Given the description of an element on the screen output the (x, y) to click on. 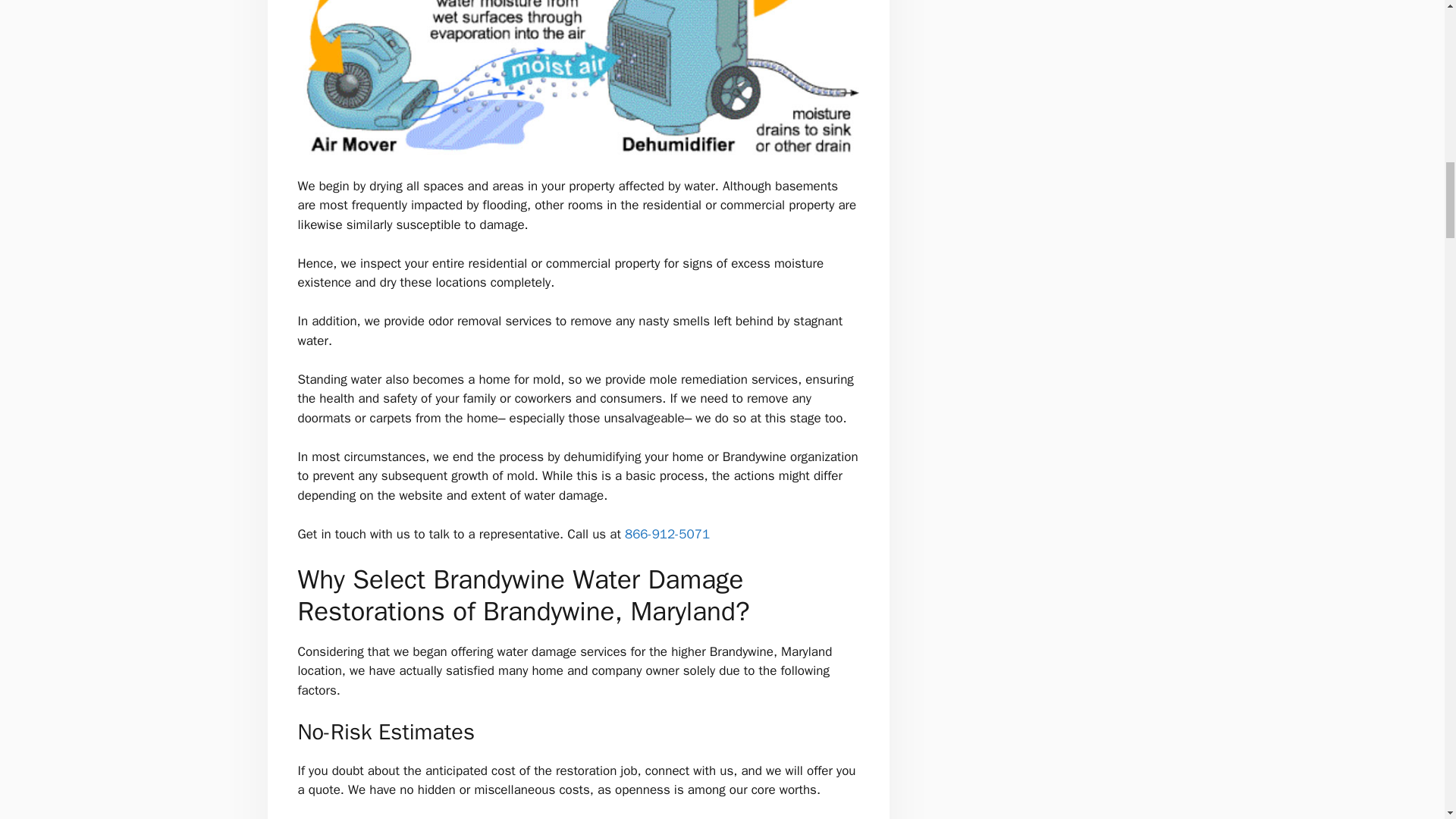
866-912-5071 (667, 534)
